Given the description of an element on the screen output the (x, y) to click on. 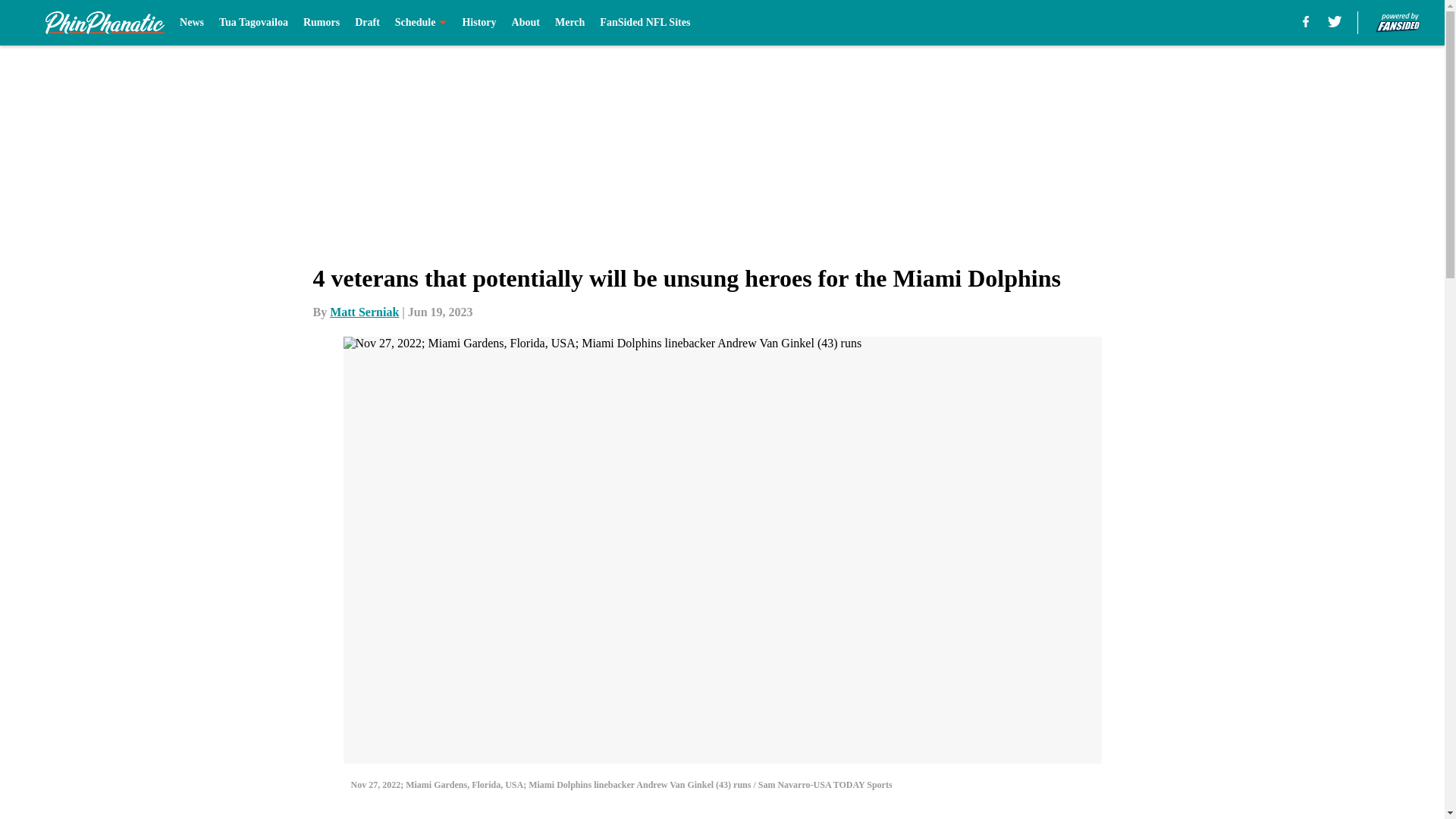
FanSided NFL Sites (644, 22)
News (191, 22)
Matt Serniak (364, 311)
Rumors (320, 22)
History (478, 22)
Draft (367, 22)
About (526, 22)
Merch (569, 22)
Tua Tagovailoa (253, 22)
